Given the description of an element on the screen output the (x, y) to click on. 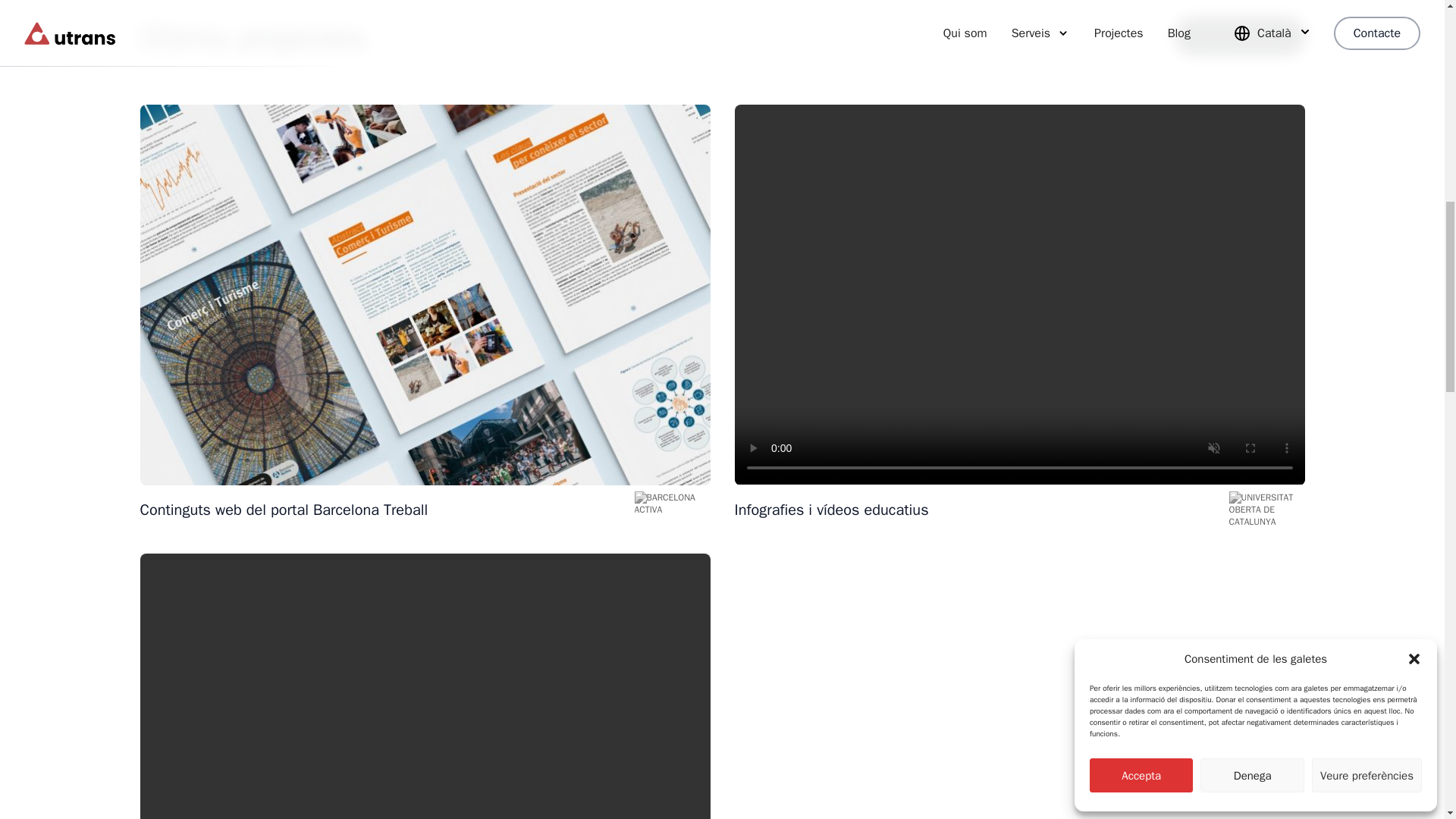
Continguts web del portal Barcelona Treball (383, 509)
